Given the description of an element on the screen output the (x, y) to click on. 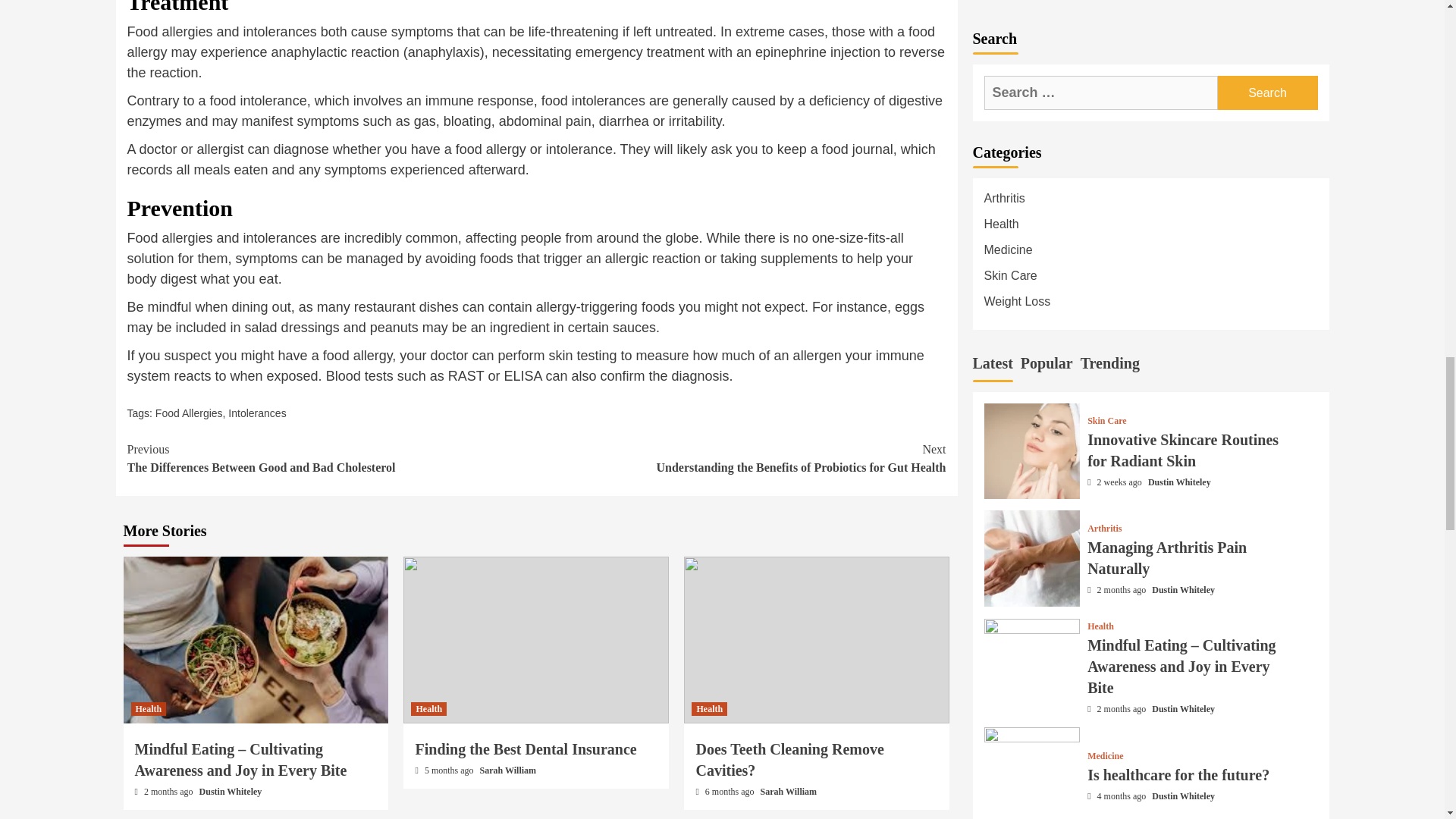
Health (708, 708)
Finding the Best Dental Insurance (525, 749)
Sarah William (332, 458)
Health (788, 791)
Health (741, 458)
Intolerances (428, 708)
Sarah William (148, 708)
Does Teeth Cleaning Remove Cavities? (256, 413)
Dustin Whiteley (508, 769)
Food Allergies (789, 759)
